Given the description of an element on the screen output the (x, y) to click on. 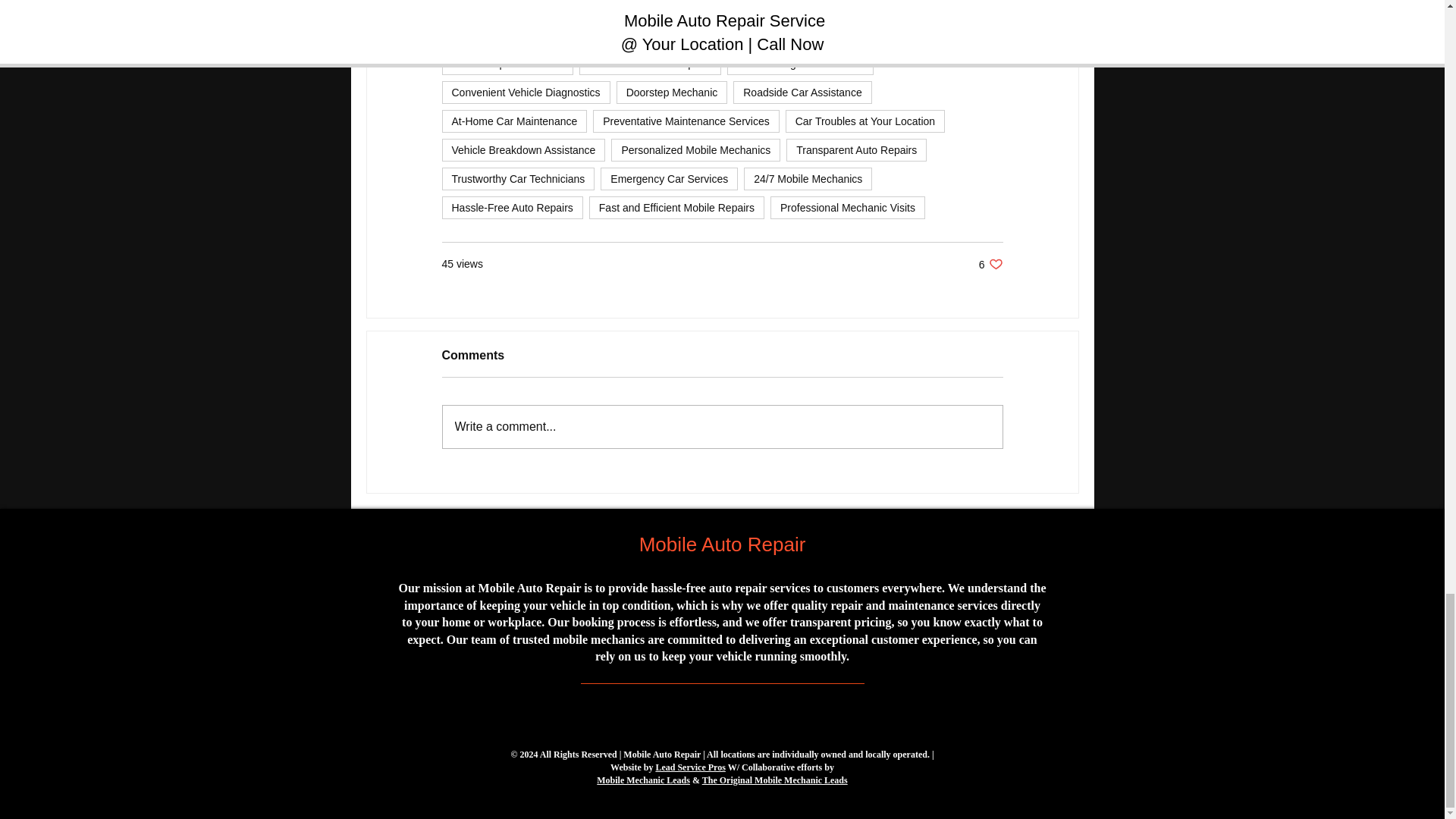
Lead Service Pros (690, 767)
Hassle-Free Auto Repairs (511, 207)
The Original Mobile Mechanic Leads (990, 264)
Mobile Car Service (774, 779)
Mobile Mechanic Leads (495, 8)
Convenience Car Repairs (643, 779)
Car Troubles at Your Location (649, 63)
Convenient Vehicle Diagnostics (865, 120)
Auto Repair (525, 92)
Mobile Repair Solutions (860, 8)
Personalized Mobile Mechanics (507, 63)
Doorstep Mechanic (695, 149)
At-Home Car Maintenance (671, 92)
Fast and Efficient Mobile Repairs (513, 120)
